Given the description of an element on the screen output the (x, y) to click on. 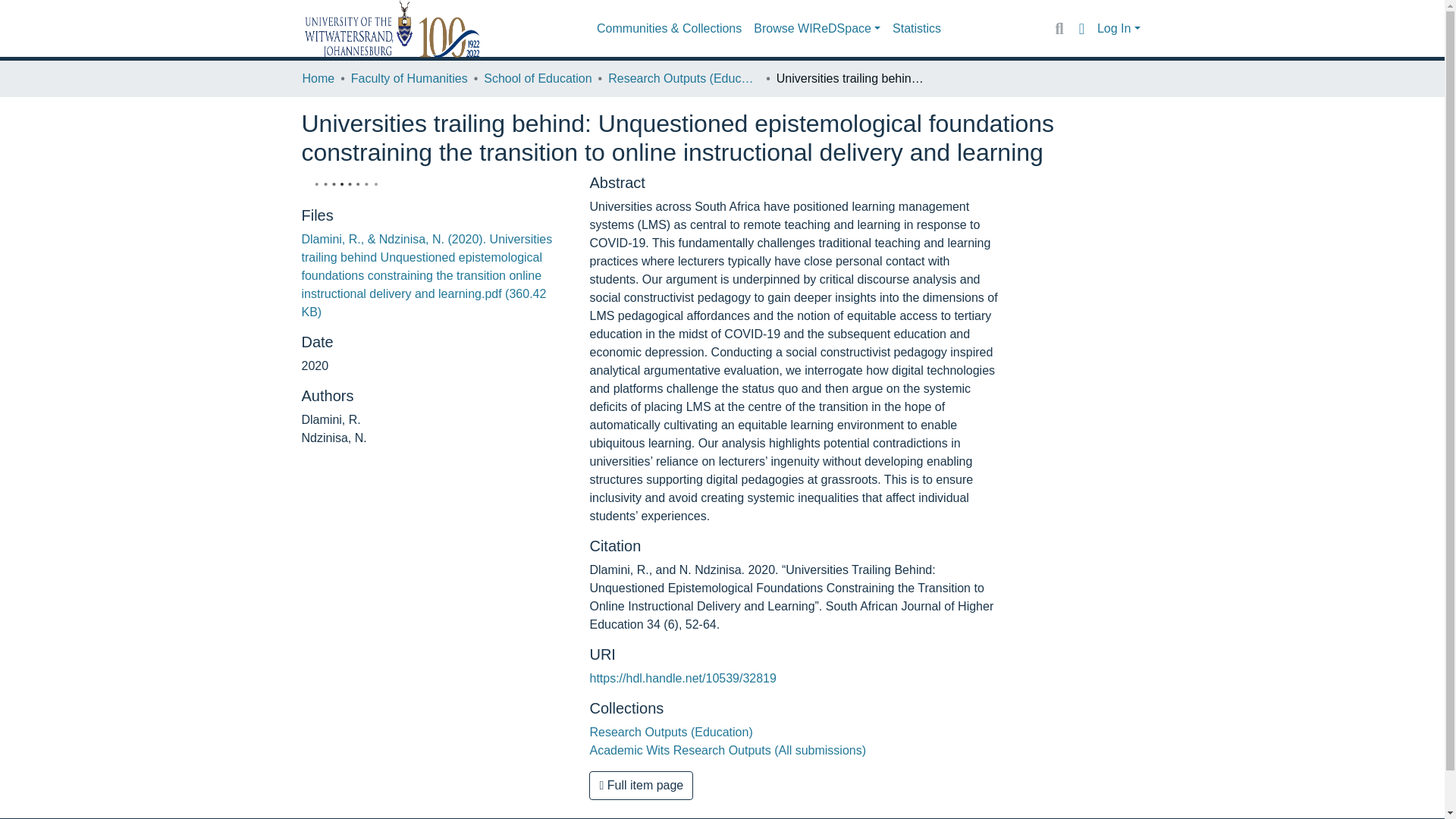
Faculty of Humanities (408, 78)
Statistics (916, 28)
Full item page (641, 785)
Language switch (1081, 28)
Log In (1118, 28)
Home (317, 78)
School of Education (537, 78)
Search (1058, 28)
Browse WIReDSpace (817, 28)
Statistics (916, 28)
